Given the description of an element on the screen output the (x, y) to click on. 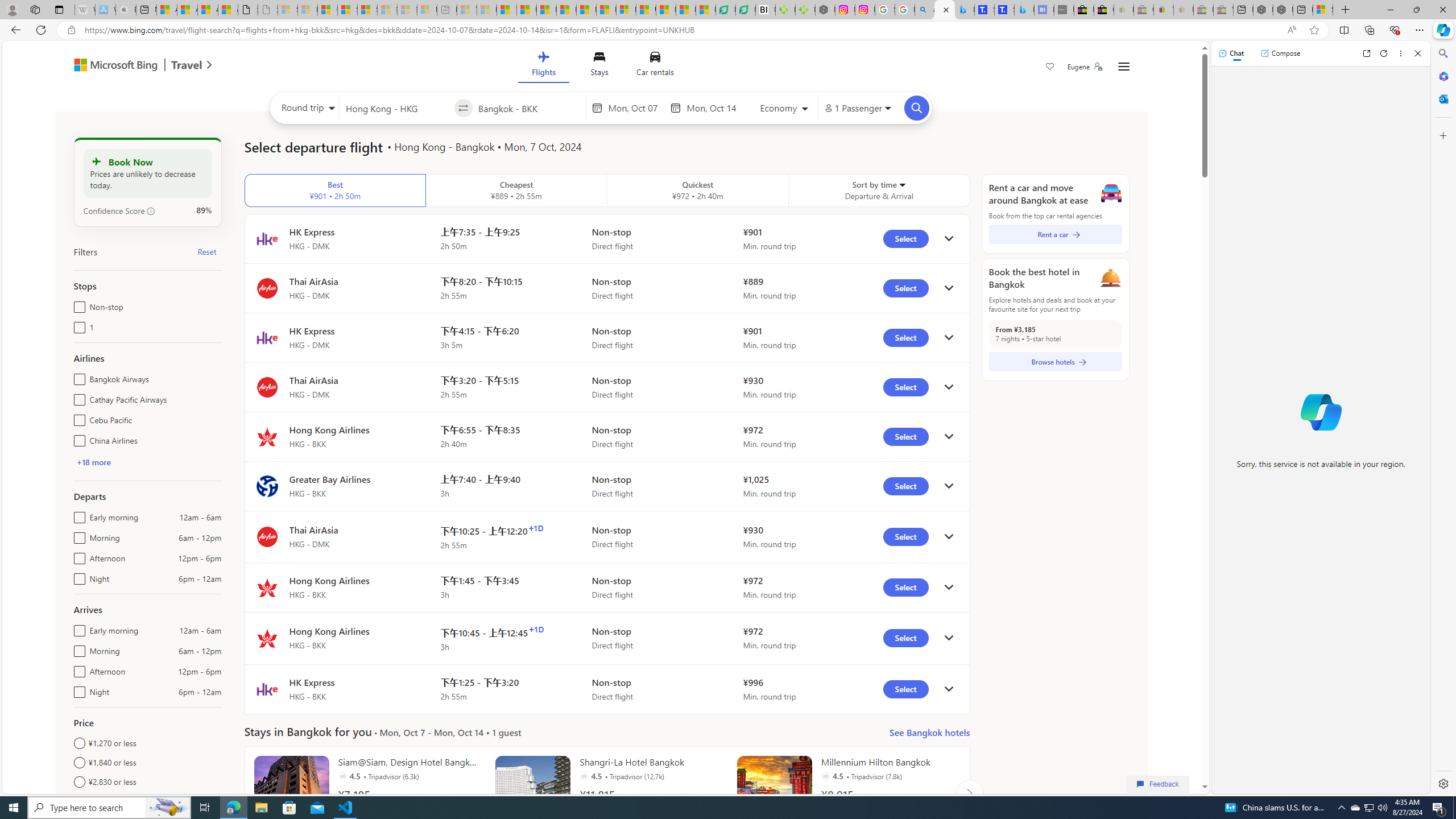
Wikipedia - Sleeping (84, 9)
Morning6am - 12pm (76, 648)
Foo BAR | Trusted Community Engagement and Contributions (606, 9)
Swap source and destination (463, 108)
Flight logo (267, 689)
Leaving from? (396, 107)
Descarga Driver Updater (804, 9)
Select class of service (784, 109)
Microsoft Bing (110, 65)
